Given the description of an element on the screen output the (x, y) to click on. 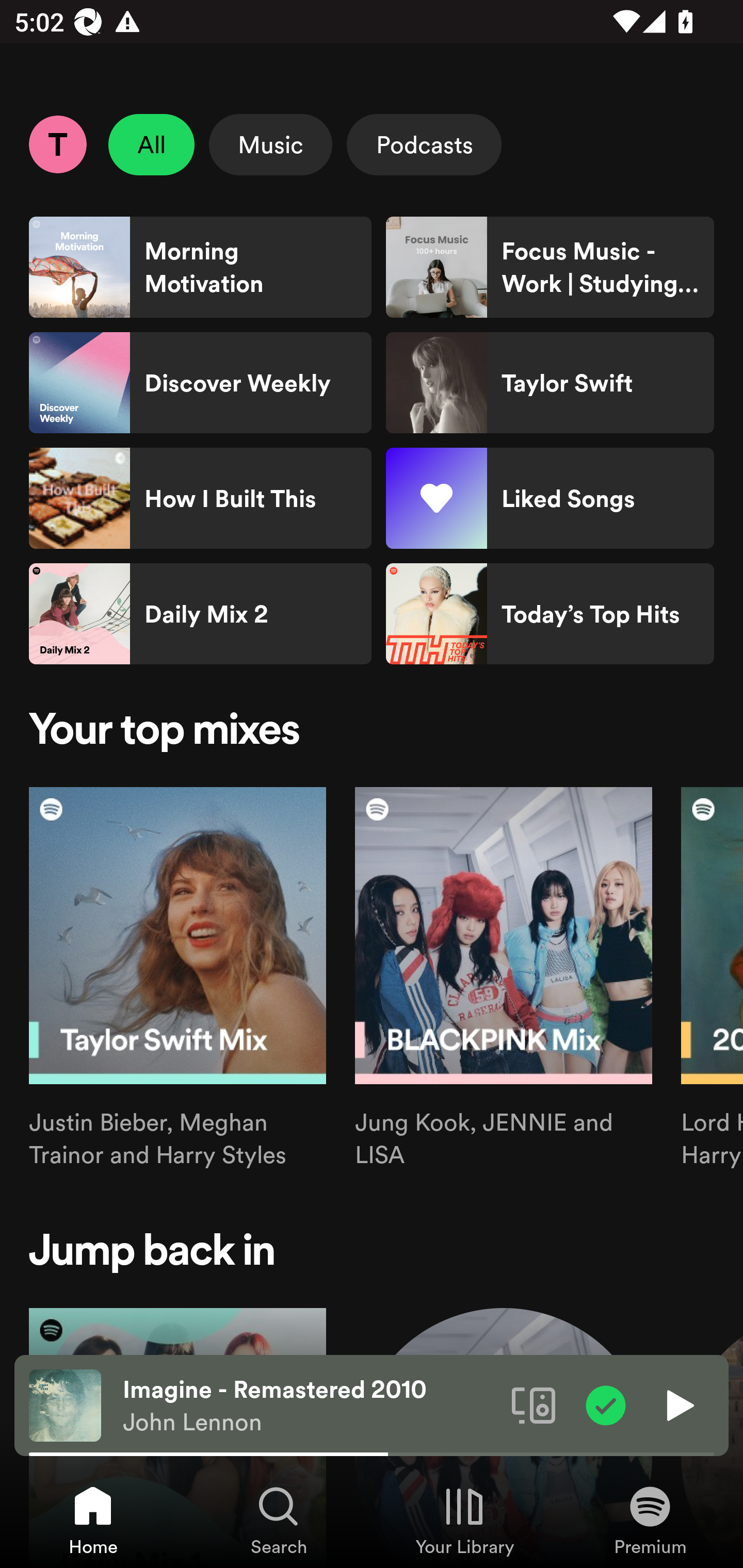
Profile (57, 144)
All Unselect All (151, 144)
Music Select Music (270, 144)
Podcasts Select Podcasts (423, 144)
Morning Motivation Shortcut Morning Motivation (199, 267)
Discover Weekly Shortcut Discover Weekly (199, 382)
Taylor Swift Shortcut Taylor Swift (549, 382)
How I Built This  Shortcut How I Built This  (199, 498)
Liked Songs Shortcut Liked Songs (549, 498)
Daily Mix 2 Shortcut Daily Mix 2 (199, 613)
Today’s Top Hits Shortcut Today’s Top Hits (549, 613)
Imagine - Remastered 2010 John Lennon (309, 1405)
The cover art of the currently playing track (64, 1404)
Connect to a device. Opens the devices menu (533, 1404)
Item added (605, 1404)
Play (677, 1404)
Home, Tab 1 of 4 Home Home (92, 1519)
Search, Tab 2 of 4 Search Search (278, 1519)
Your Library, Tab 3 of 4 Your Library Your Library (464, 1519)
Premium, Tab 4 of 4 Premium Premium (650, 1519)
